Given the description of an element on the screen output the (x, y) to click on. 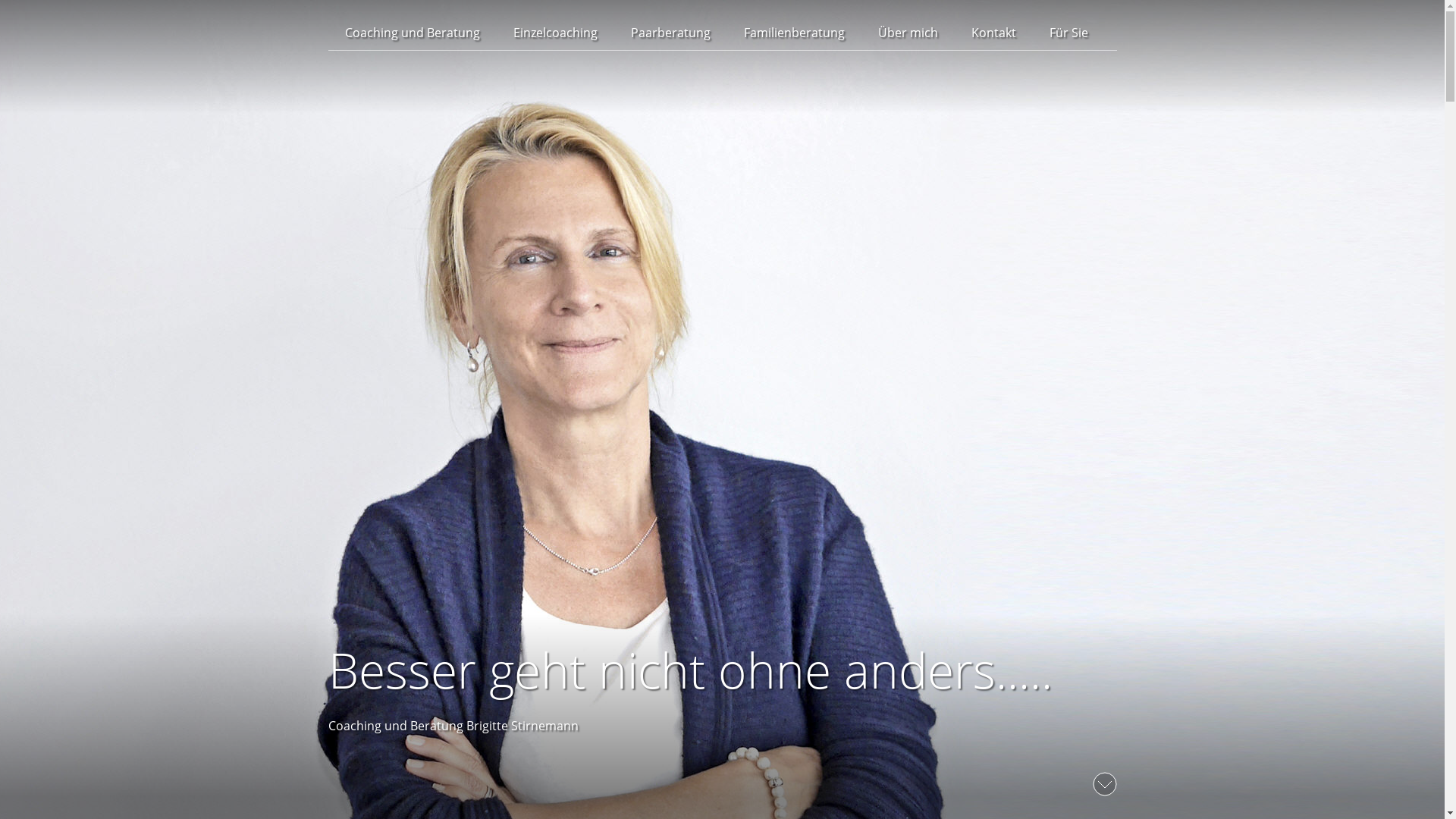
Einzelcoaching Element type: text (554, 32)
Coaching und Beratung Element type: text (411, 32)
Kontakt Element type: text (992, 32)
Paarberatung Element type: text (670, 32)
Familienberatung Element type: text (793, 32)
